Given the description of an element on the screen output the (x, y) to click on. 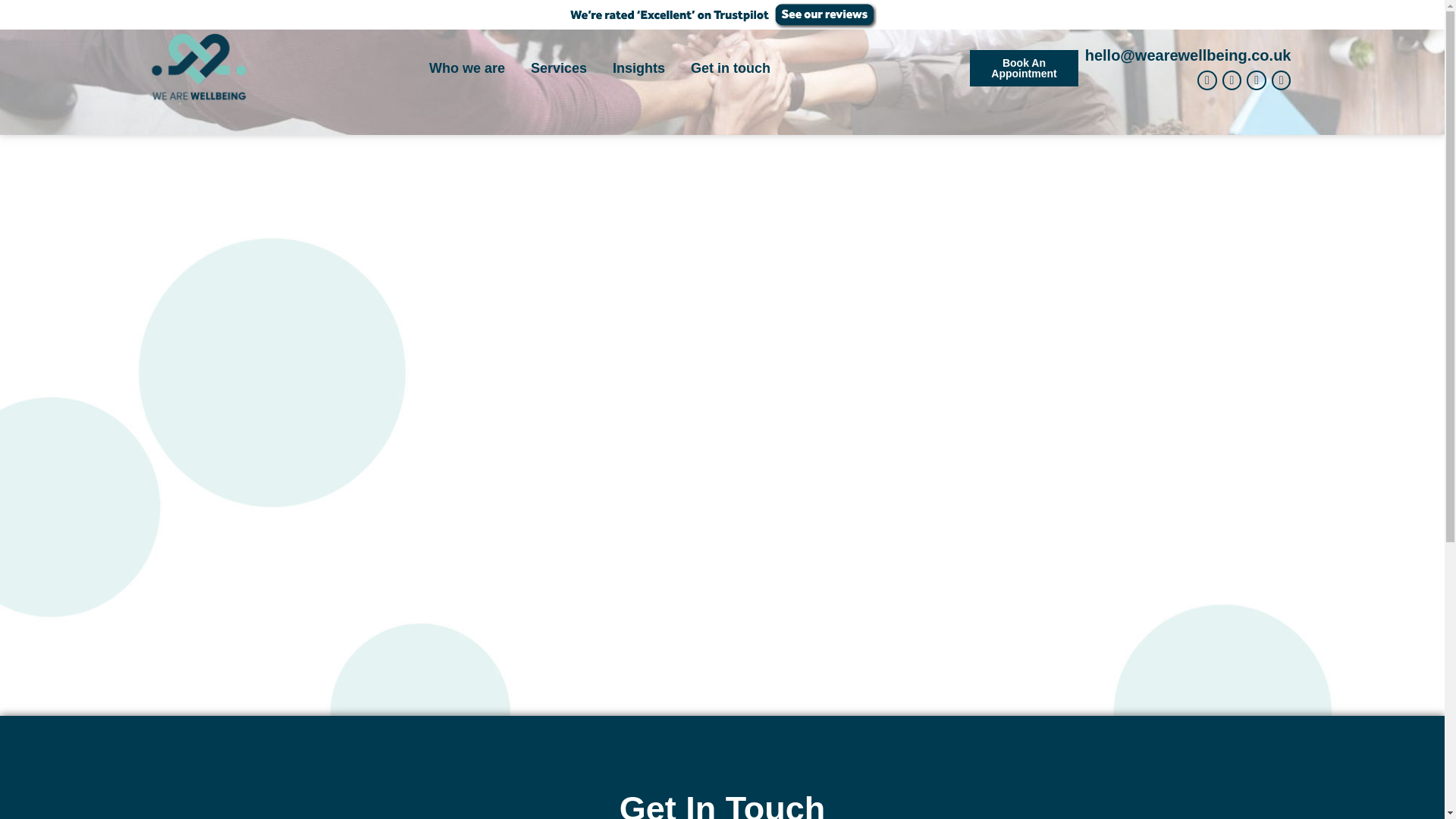
Who we are (467, 68)
Insights (638, 68)
Services (558, 68)
Get in touch (729, 68)
